Given the description of an element on the screen output the (x, y) to click on. 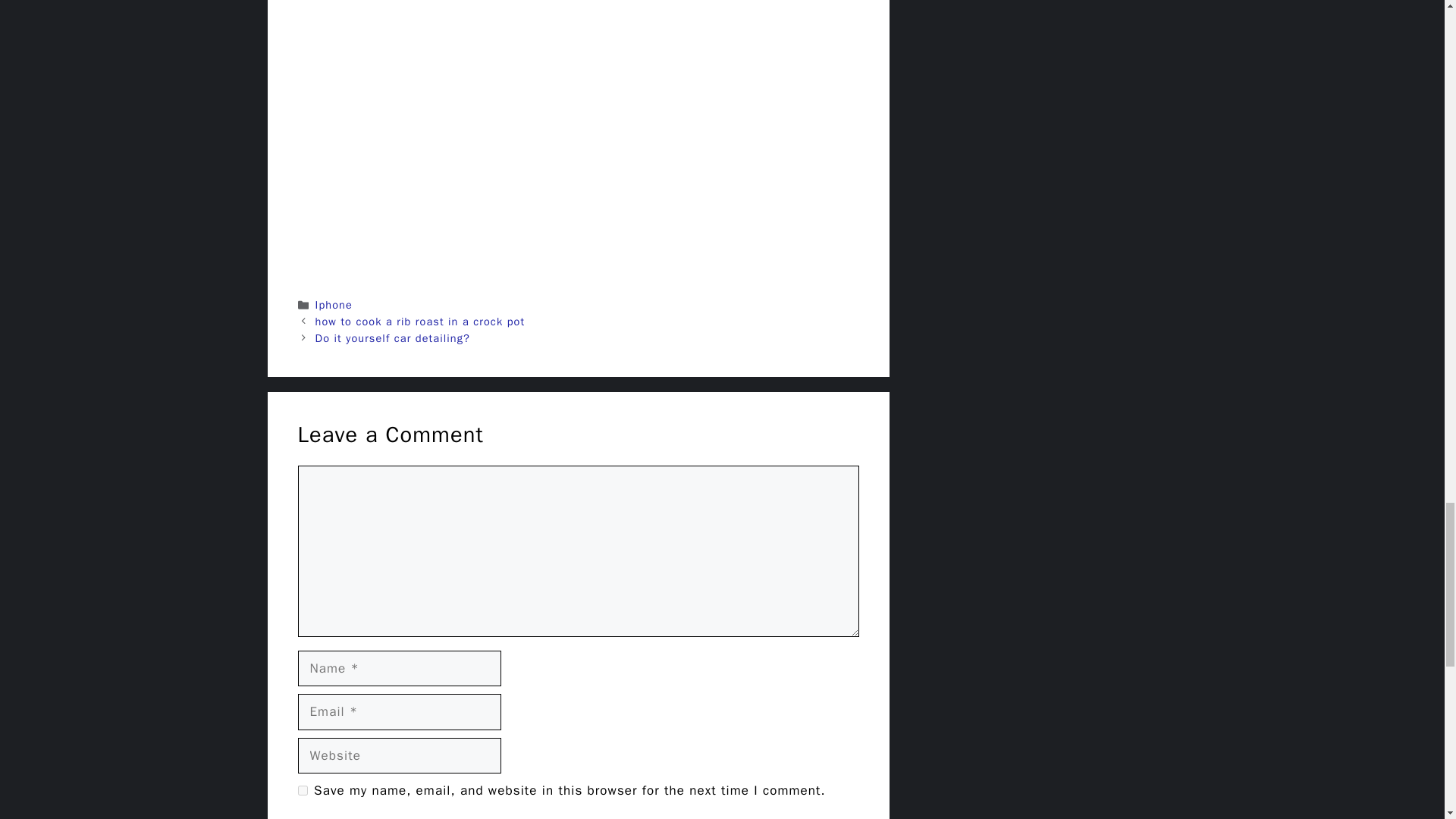
how to cook a rib roast in a crock pot (420, 321)
yes (302, 790)
Iphone (333, 305)
Do it yourself car detailing? (392, 337)
